Given the description of an element on the screen output the (x, y) to click on. 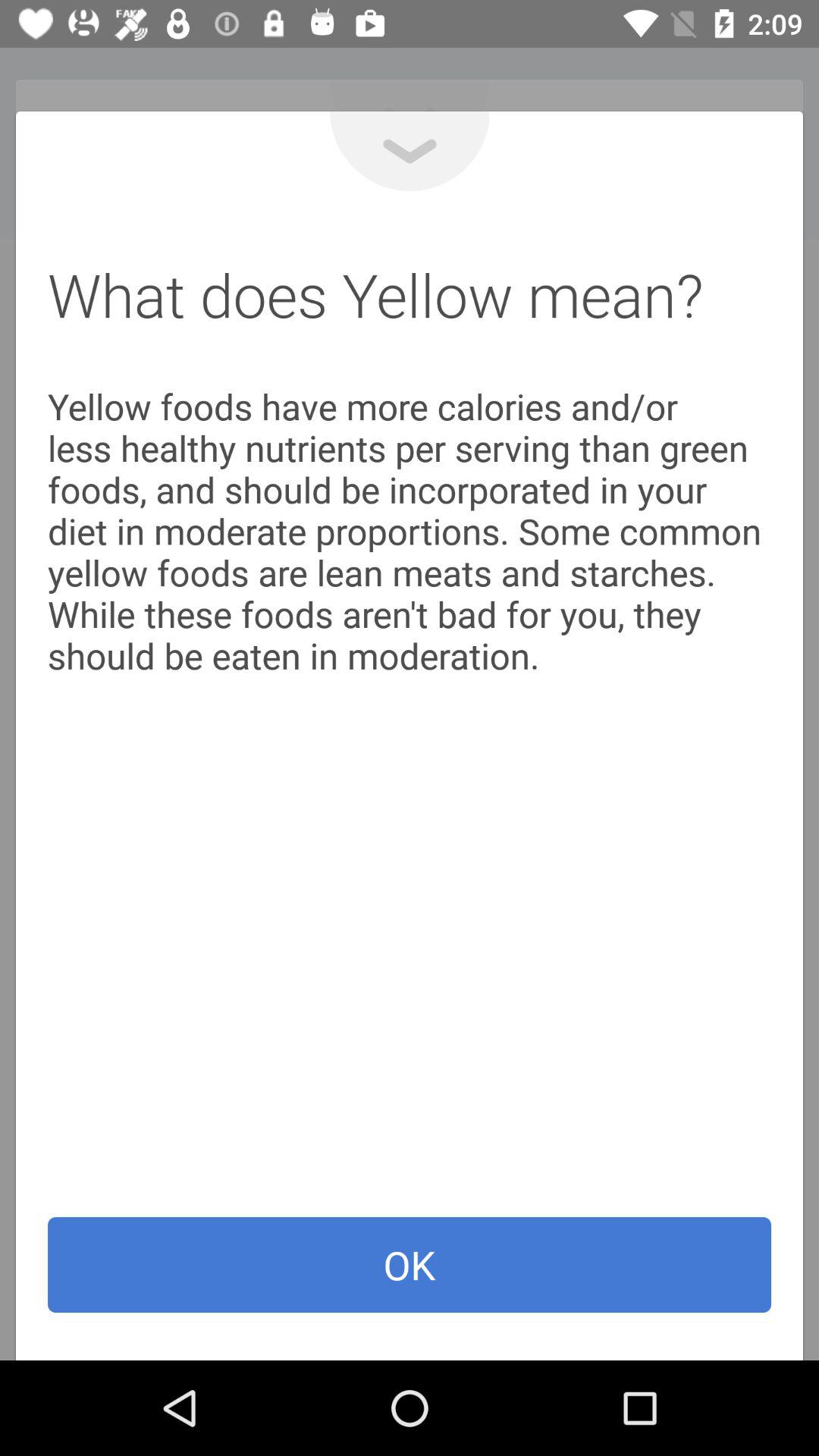
choose icon below yellow foods have item (409, 1264)
